Given the description of an element on the screen output the (x, y) to click on. 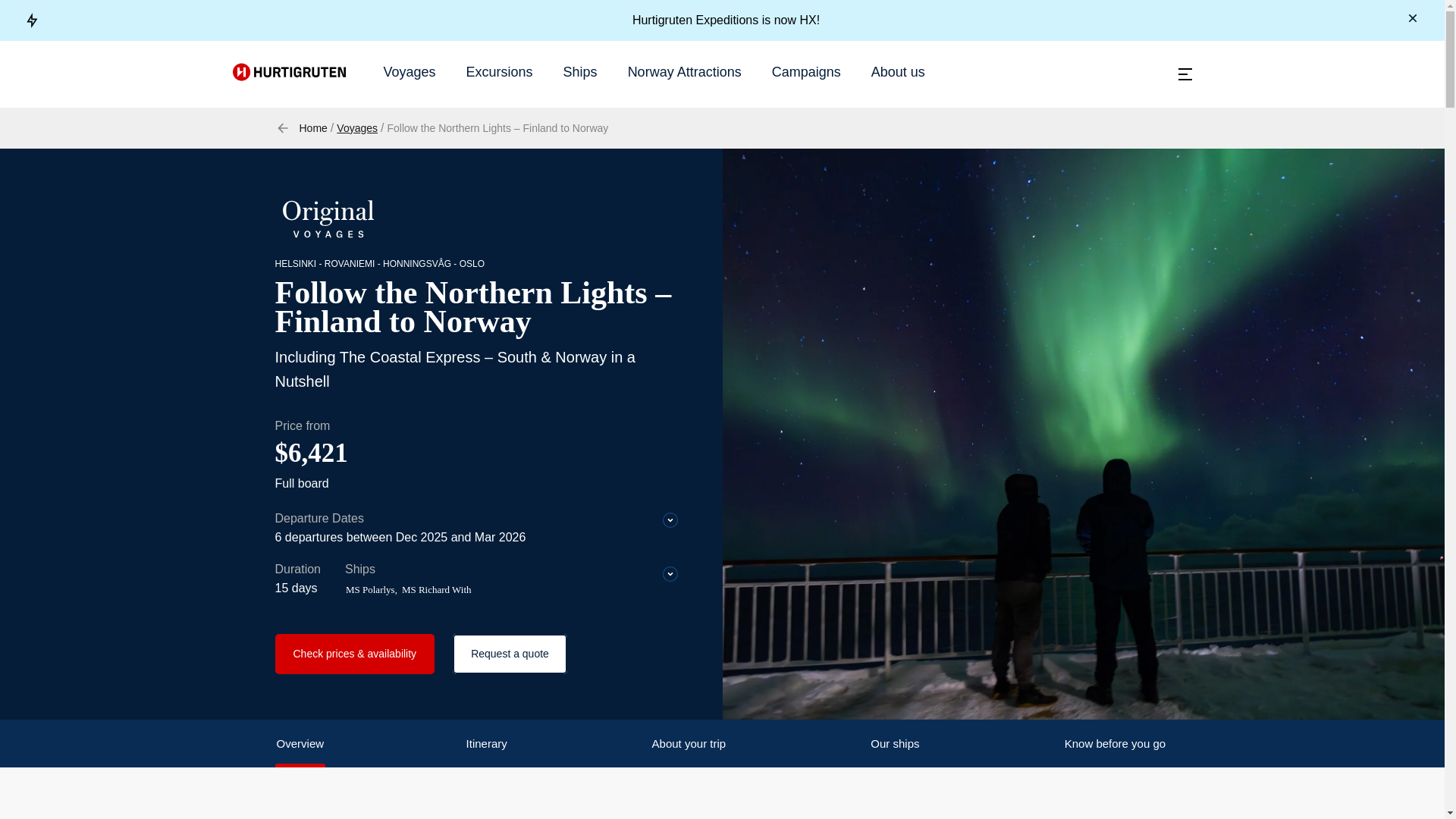
Request a quote (509, 653)
Voyages (356, 128)
Open menu (1184, 73)
Ships (579, 71)
Home (312, 128)
About us (897, 71)
Itinerary (486, 743)
Voyages (409, 71)
Our ships (894, 743)
Itinerary (486, 743)
About your trip (688, 743)
Overview (299, 743)
Norway Attractions (684, 71)
Excursions (498, 71)
Campaigns (806, 71)
